Given the description of an element on the screen output the (x, y) to click on. 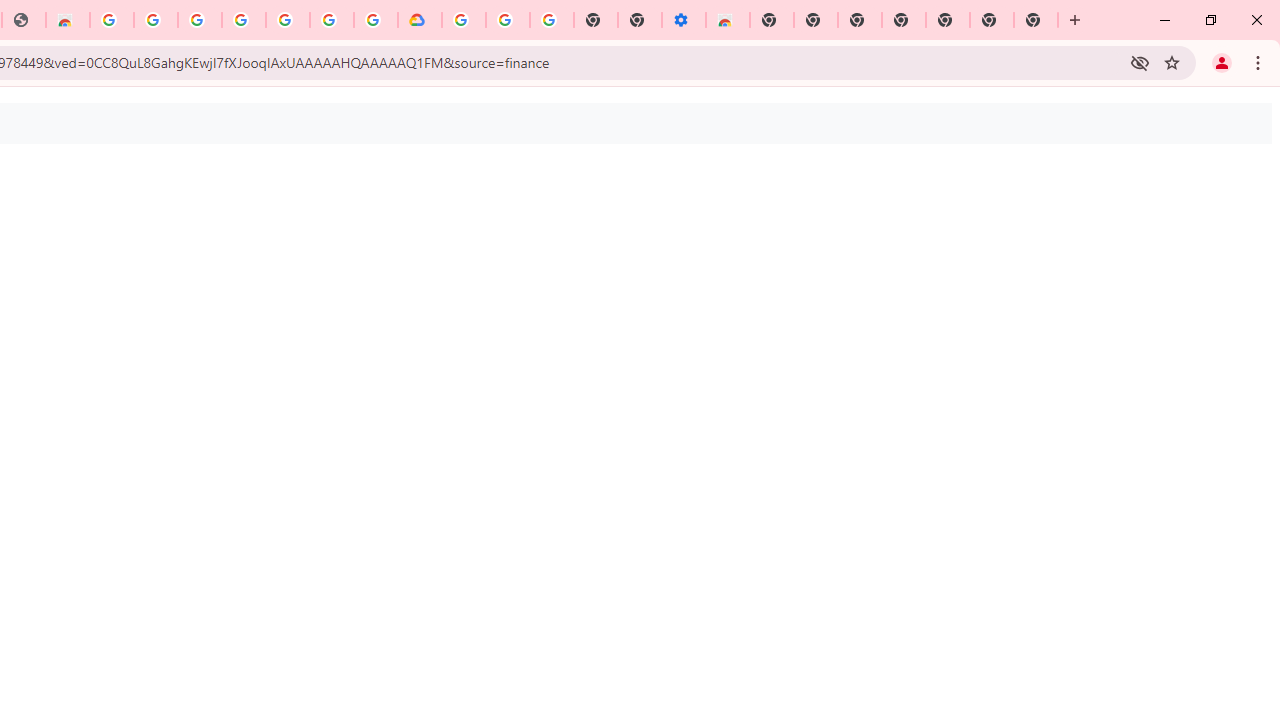
Chrome Web Store - Household (67, 20)
New Tab (1035, 20)
Ad Settings (155, 20)
New Tab (771, 20)
